Given the description of an element on the screen output the (x, y) to click on. 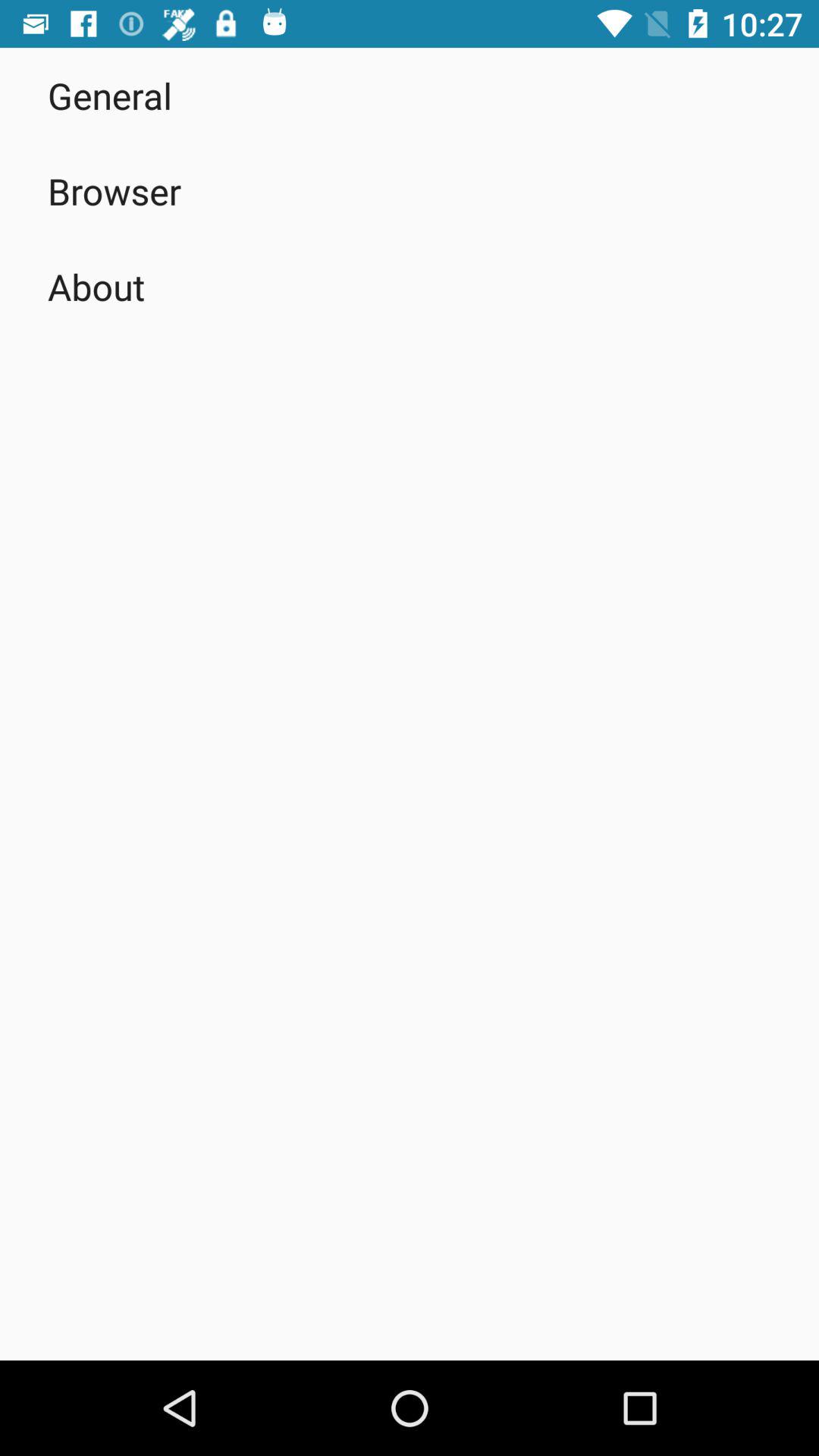
click the item below general item (114, 190)
